Given the description of an element on the screen output the (x, y) to click on. 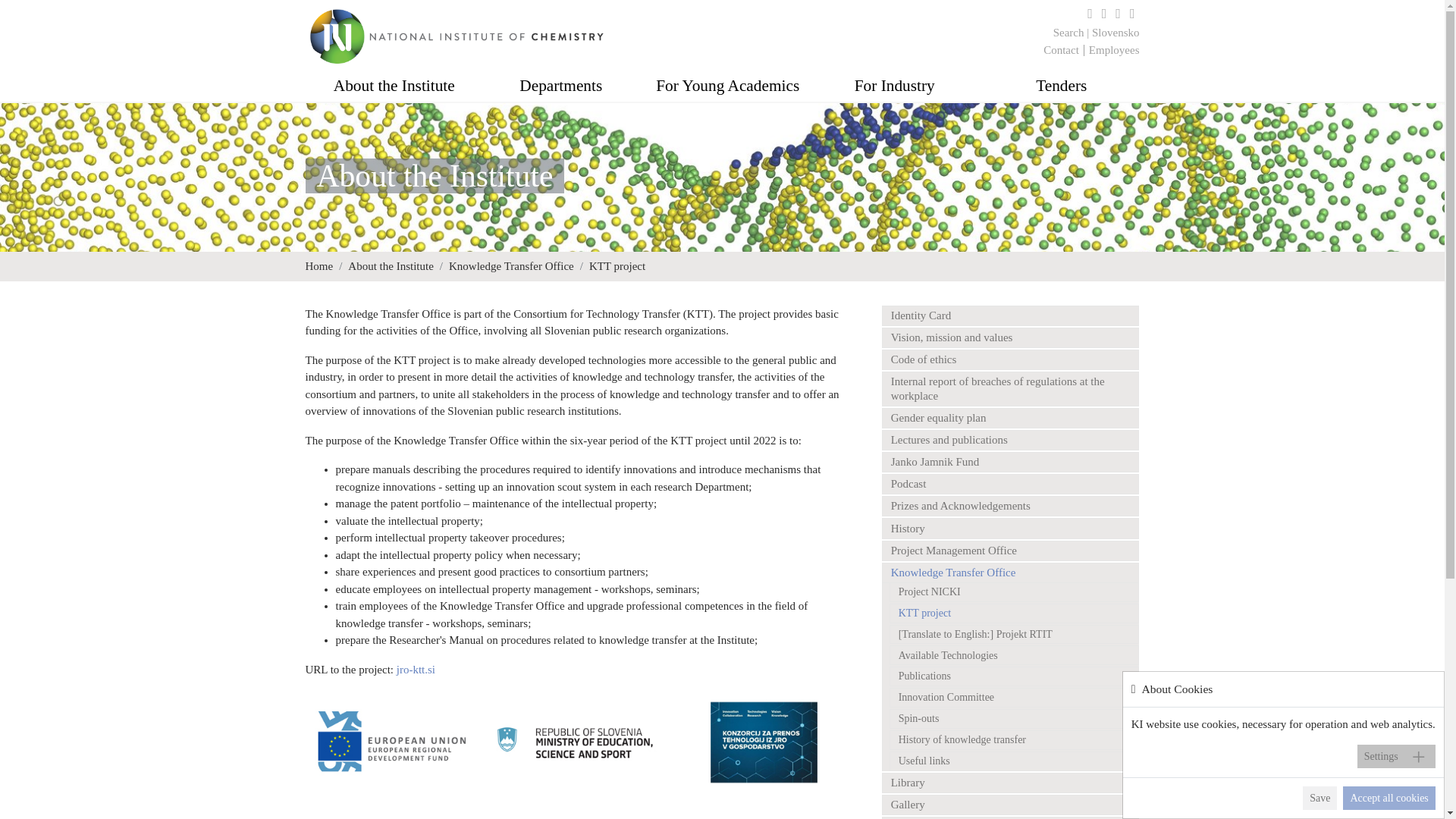
Departments (560, 88)
Lectures and publications (1009, 439)
Knowledge Transfer Office (510, 266)
Home (318, 266)
About the Institute (393, 88)
Internal report of breaches of regulations at the workplace (1009, 388)
Code of ethics (1009, 359)
About the Institute (390, 266)
Employees (1114, 50)
Gender equality plan (1009, 417)
Slovensko (1116, 32)
Vision, mission and values (1009, 337)
Janko Jamnik Fund (1009, 462)
Identity Card (1009, 314)
Contact (1060, 50)
